Given the description of an element on the screen output the (x, y) to click on. 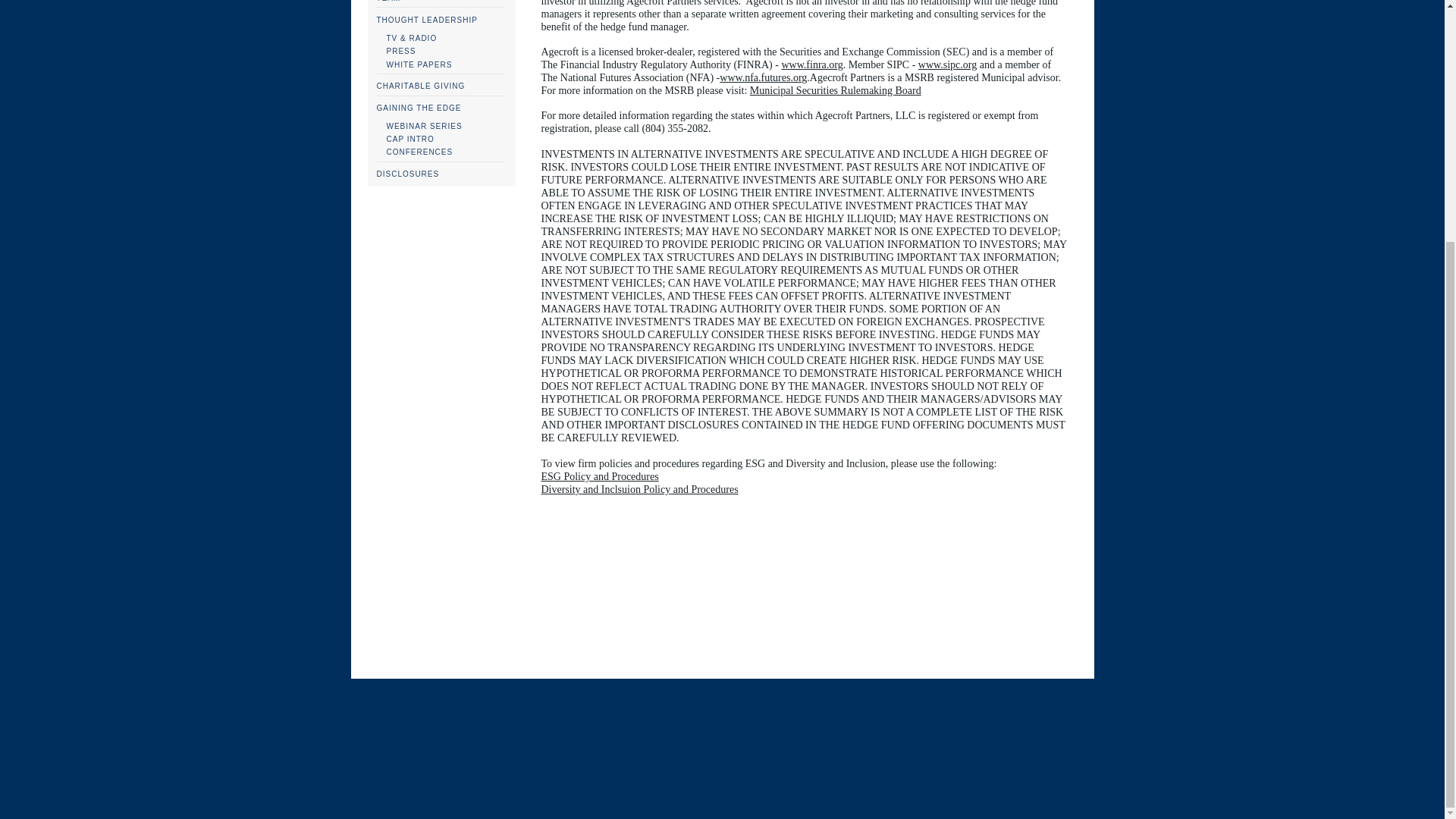
www.nfa.futures.org (762, 77)
www.finra.org (811, 64)
CONFERENCES (419, 152)
CAP INTRO  (412, 139)
Diversity and Inclsuion Policy and Procedures (639, 489)
WEBINAR SERIES  (426, 126)
www.sipc.org (947, 64)
PRESS (401, 50)
Municipal Securities Rulemaking Board (835, 90)
WHITE PAPERS (419, 64)
ESG Policy and Procedures (600, 476)
DISCLOSURES (407, 173)
CHARITABLE GIVING (419, 85)
TEAM (387, 1)
